Given the description of an element on the screen output the (x, y) to click on. 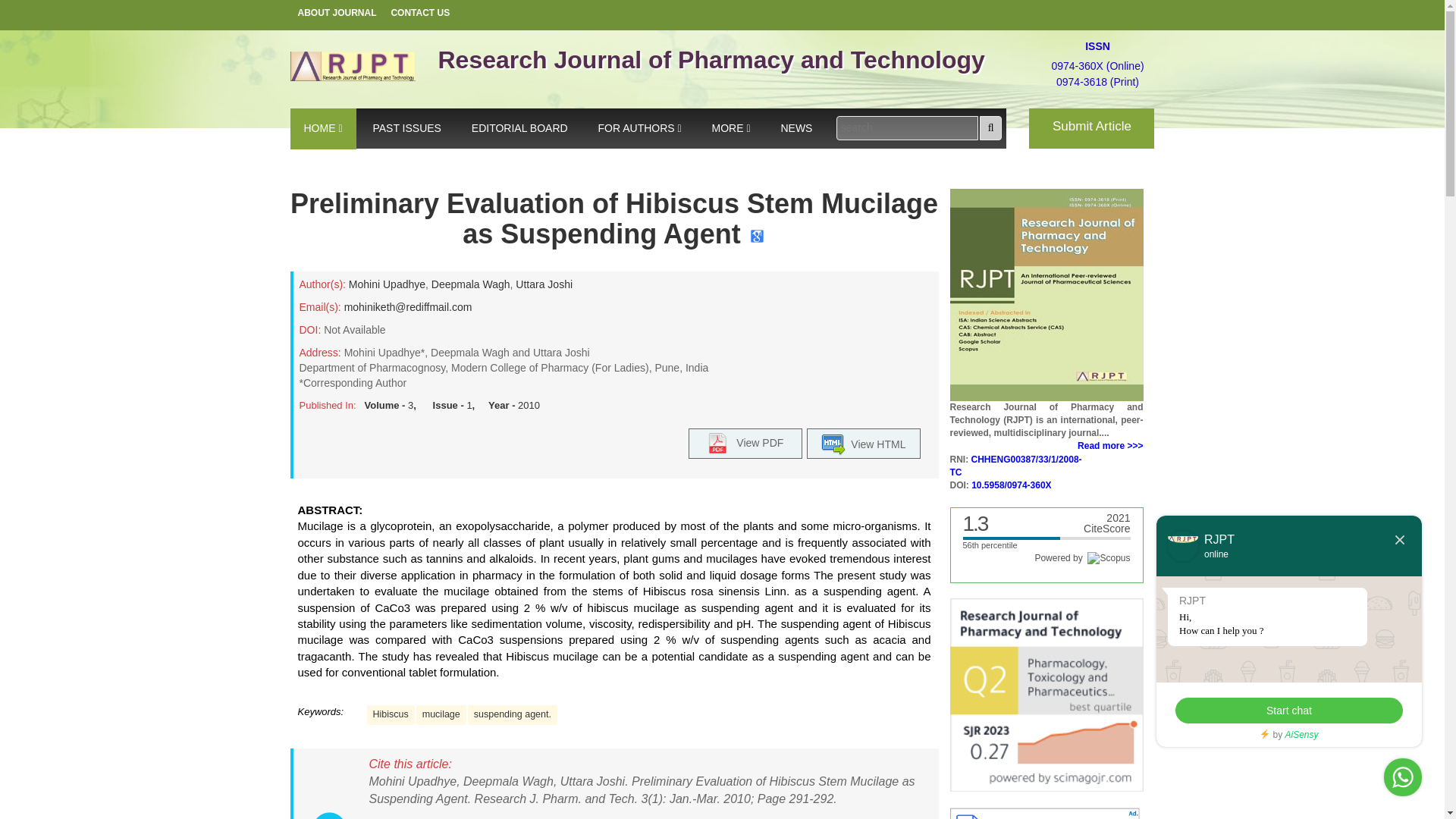
NEWS (796, 128)
PAST ISSUES (406, 128)
EDITORIAL BOARD (520, 128)
MORE (731, 128)
Research Journal of Pharmacy and Technology (722, 59)
ABOUT JOURNAL (337, 13)
FOR AUTHORS (640, 128)
HOME (322, 128)
CONTACT US (419, 13)
